Given the description of an element on the screen output the (x, y) to click on. 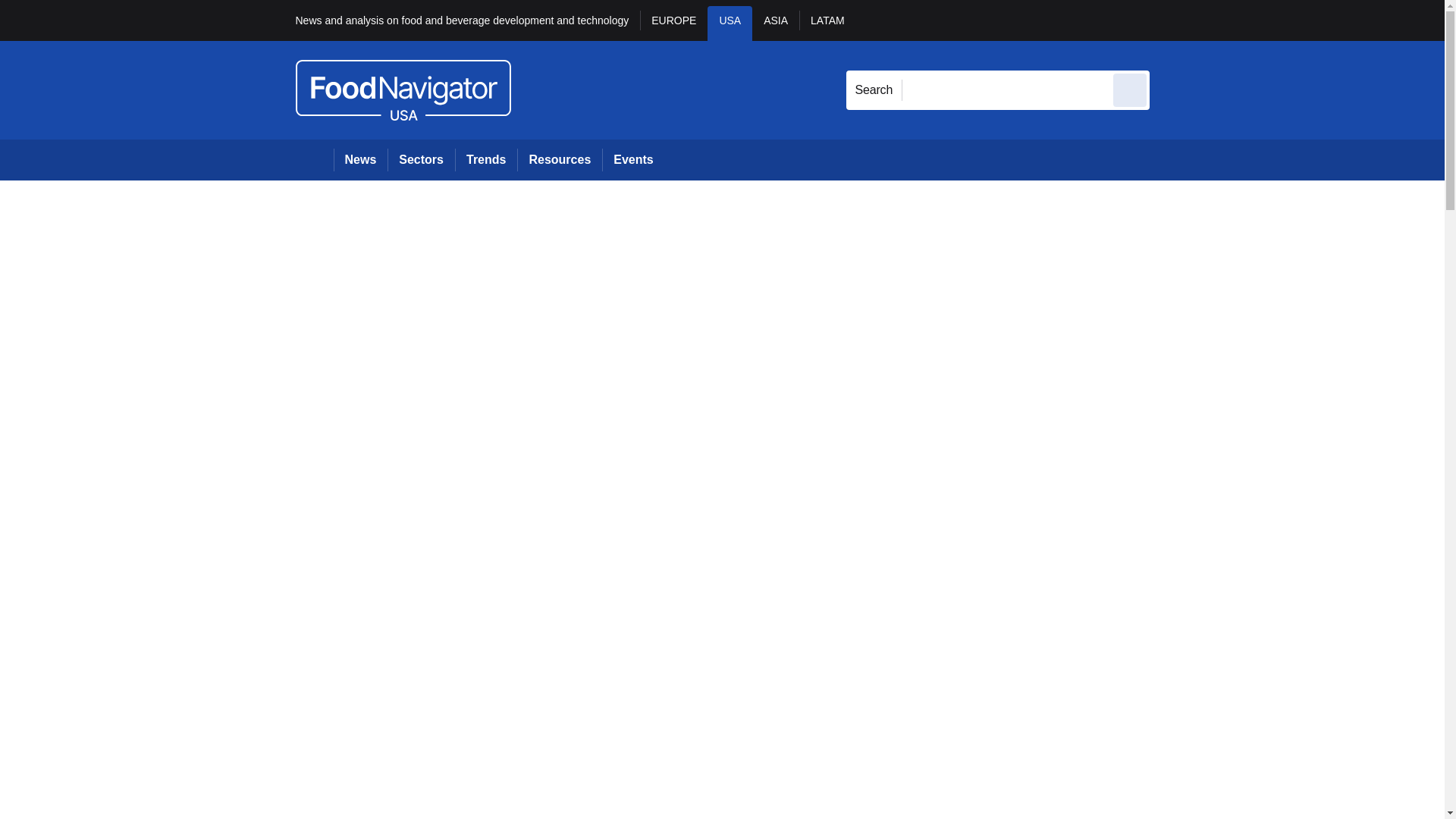
REGISTER (1250, 20)
USA (729, 22)
News (360, 159)
Home (313, 159)
FoodNavigator USA (403, 89)
My account (1256, 20)
Sign in (1171, 20)
EUROPE (673, 22)
Sign out (1174, 20)
Home (314, 159)
